Given the description of an element on the screen output the (x, y) to click on. 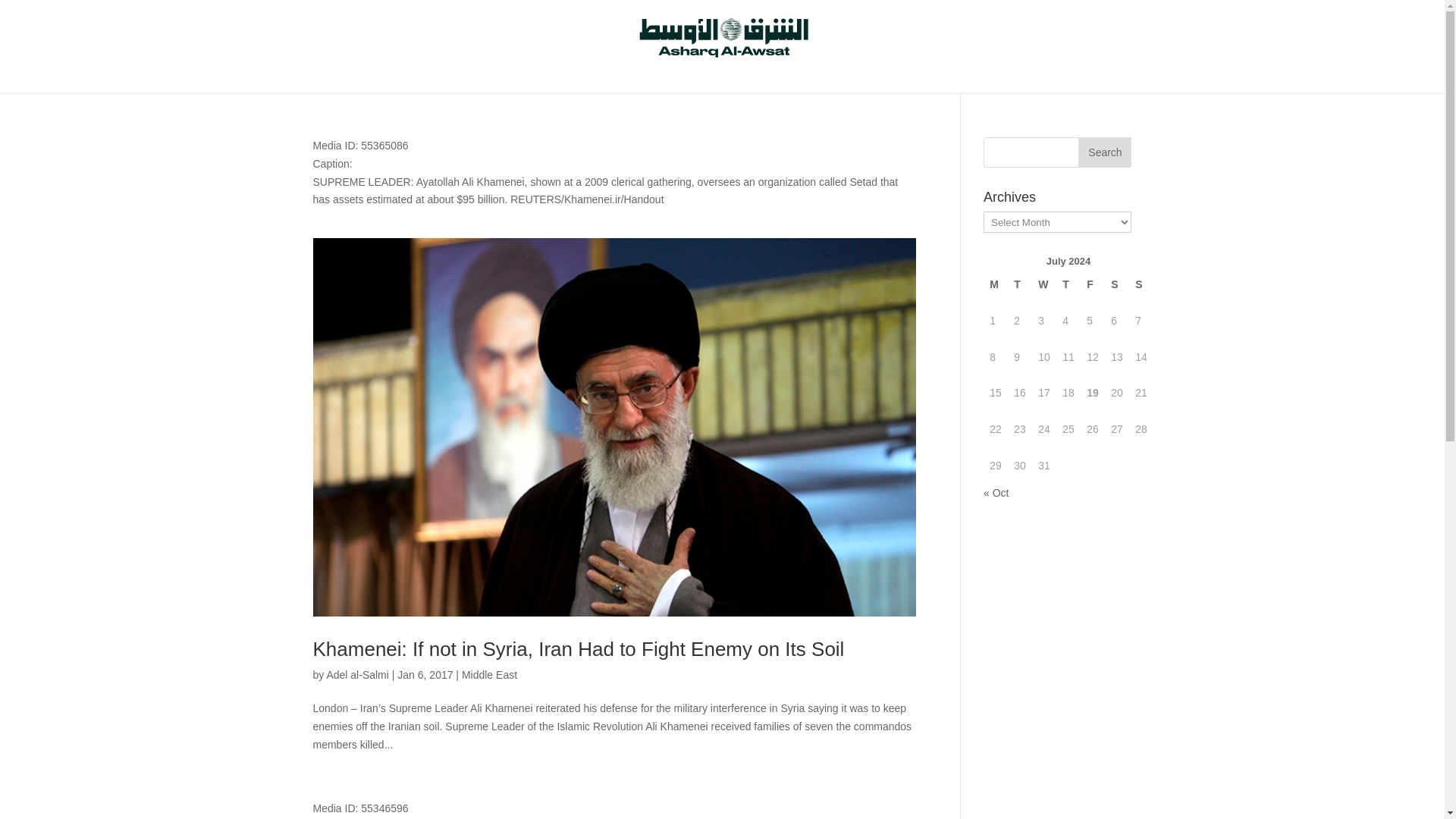
Search (1104, 152)
Middle East (488, 674)
Search (1104, 152)
Posts by Adel al-Salmi (357, 674)
Adel al-Salmi (357, 674)
